Given the description of an element on the screen output the (x, y) to click on. 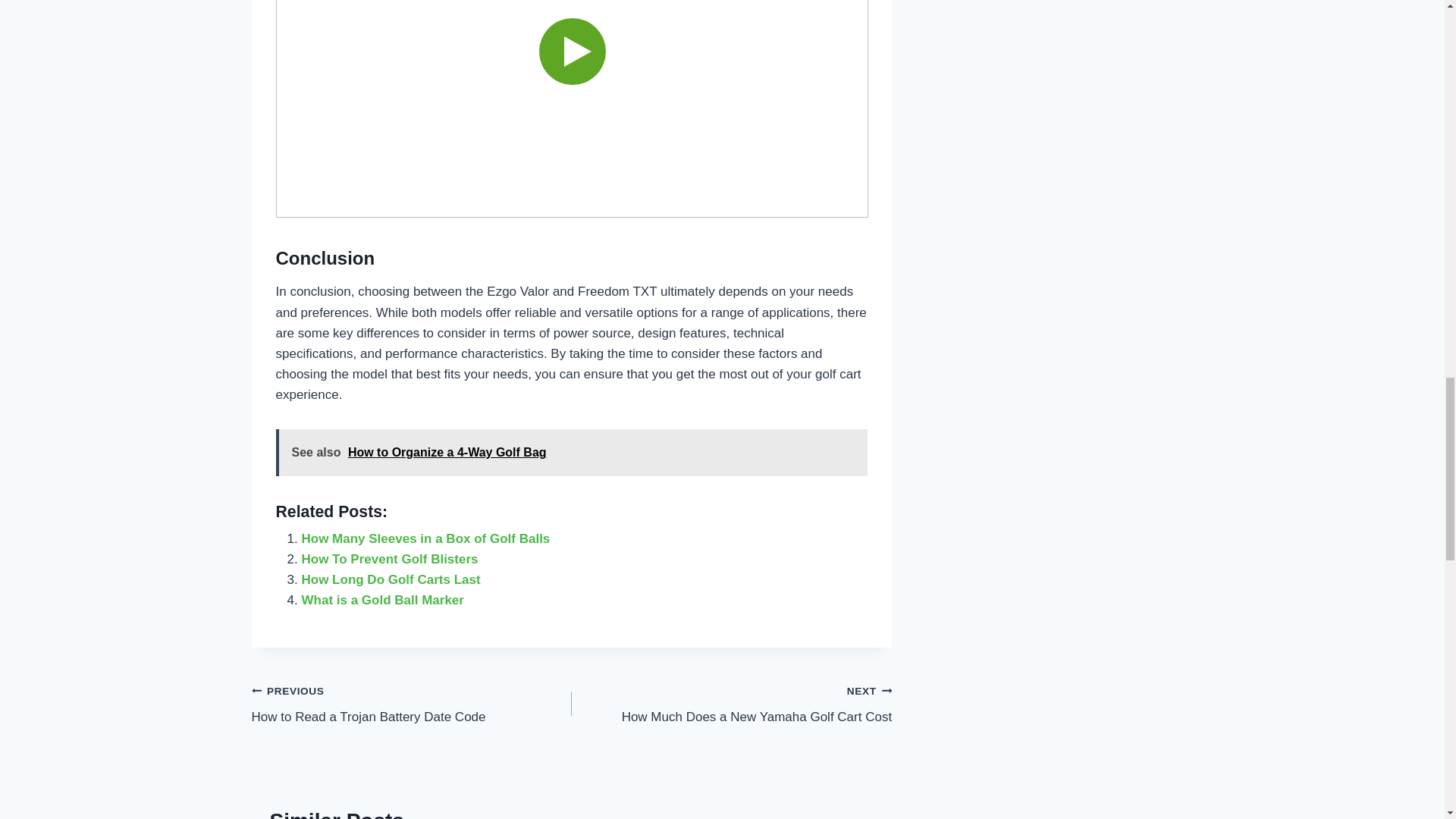
How Long Do Golf Carts Last (411, 704)
How Many Sleeves in a Box of Golf Balls (390, 579)
What is a Gold Ball Marker (425, 537)
How Long Do Golf Carts Last (382, 599)
How Many Sleeves in a Box of Golf Balls (390, 579)
How To Prevent Golf Blisters (425, 537)
How To Prevent Golf Blisters (731, 704)
How to tell what EZGO TXT you have.   EZGO Lingo (390, 559)
What is a Gold Ball Marker (390, 559)
See also  How to Organize a 4-Way Golf Bag (571, 108)
